Given the description of an element on the screen output the (x, y) to click on. 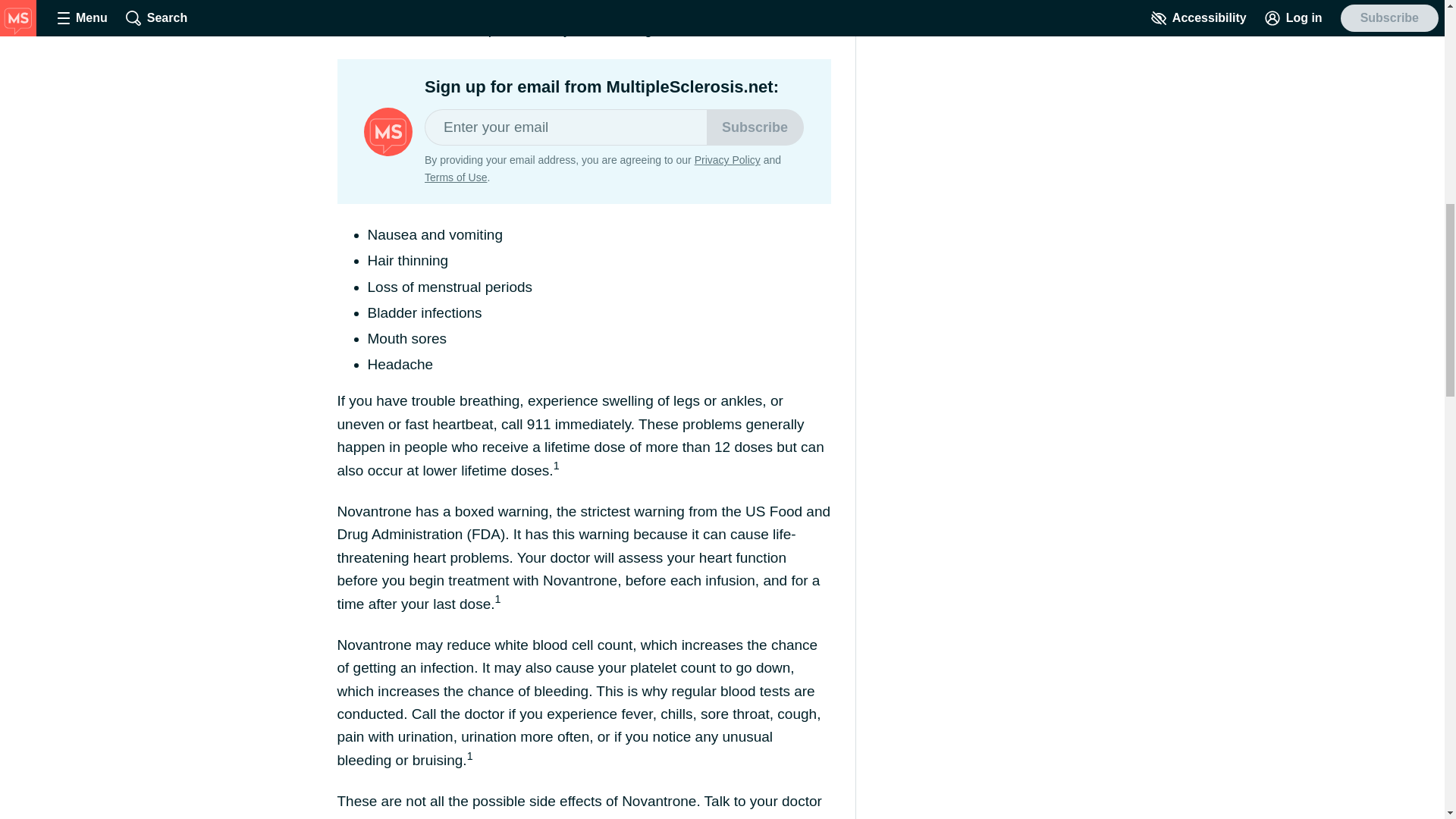
Subscribe (754, 126)
Privacy Policy (727, 159)
clinical trials (413, 6)
Terms of Use (455, 177)
